Given the description of an element on the screen output the (x, y) to click on. 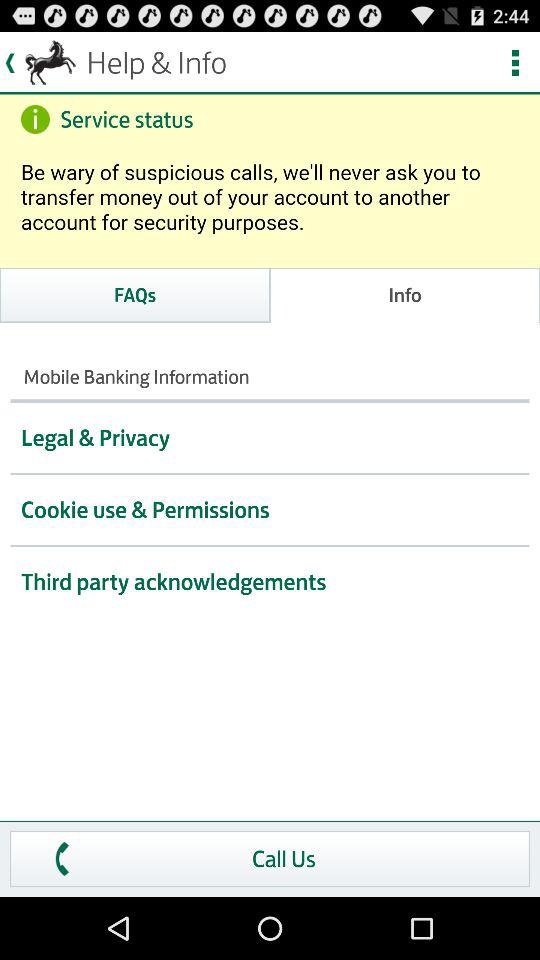
click on the cookie use  permissions option (269, 510)
click icon which is left to the text help  info (40, 63)
select the text with third party acknowledgements (269, 582)
